Given the description of an element on the screen output the (x, y) to click on. 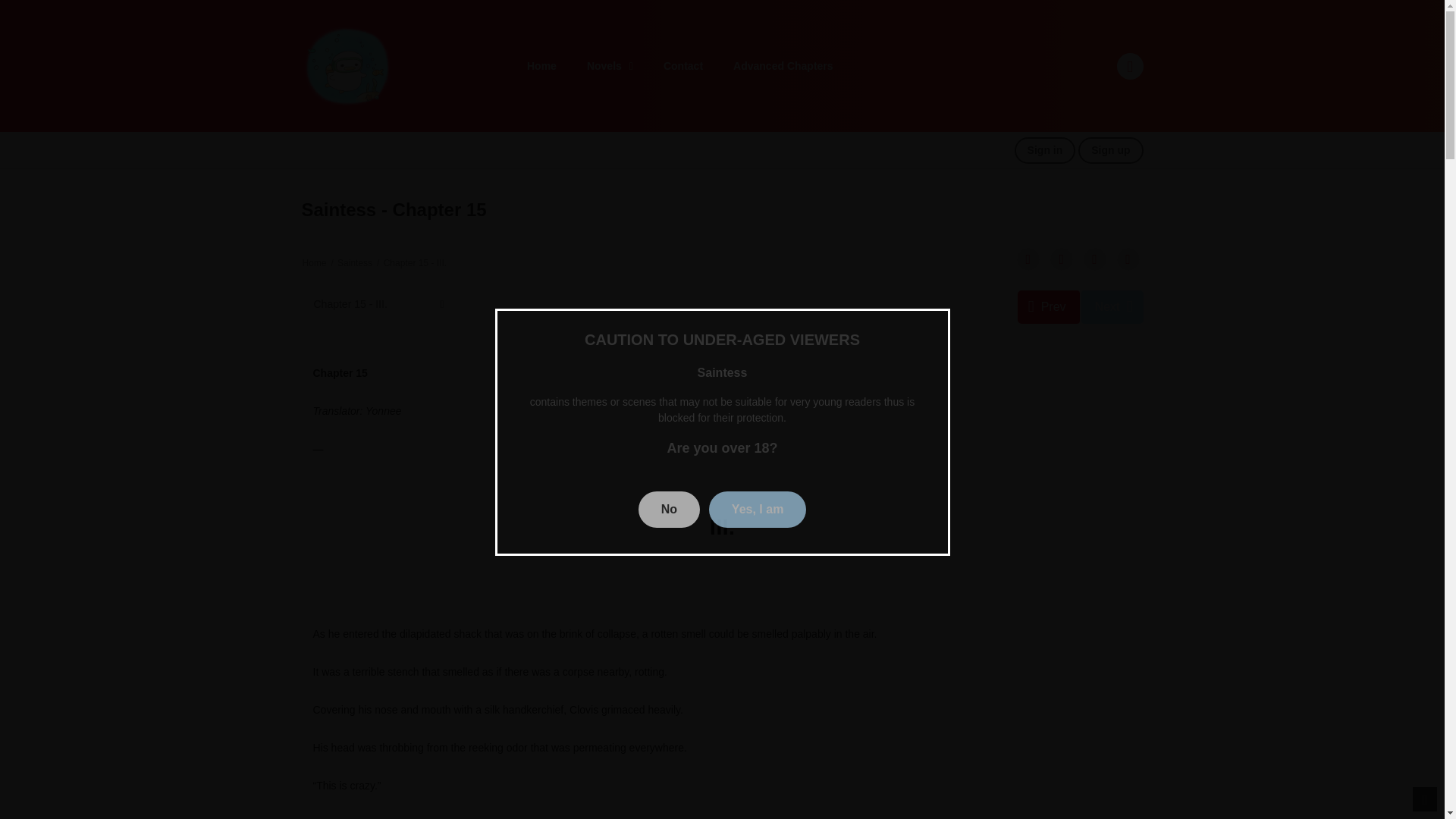
Belle Reservoir (347, 64)
Search (970, 9)
Chapter 14 (1048, 306)
Home (313, 262)
Sign up (1110, 150)
Novels (609, 66)
Saintess (354, 262)
Bookmark (1094, 259)
Next (1111, 306)
Sign in (1044, 150)
Contact (682, 66)
Chapter 16 (1111, 306)
Home (542, 66)
Advanced Chapters (782, 66)
Prev (1048, 306)
